Given the description of an element on the screen output the (x, y) to click on. 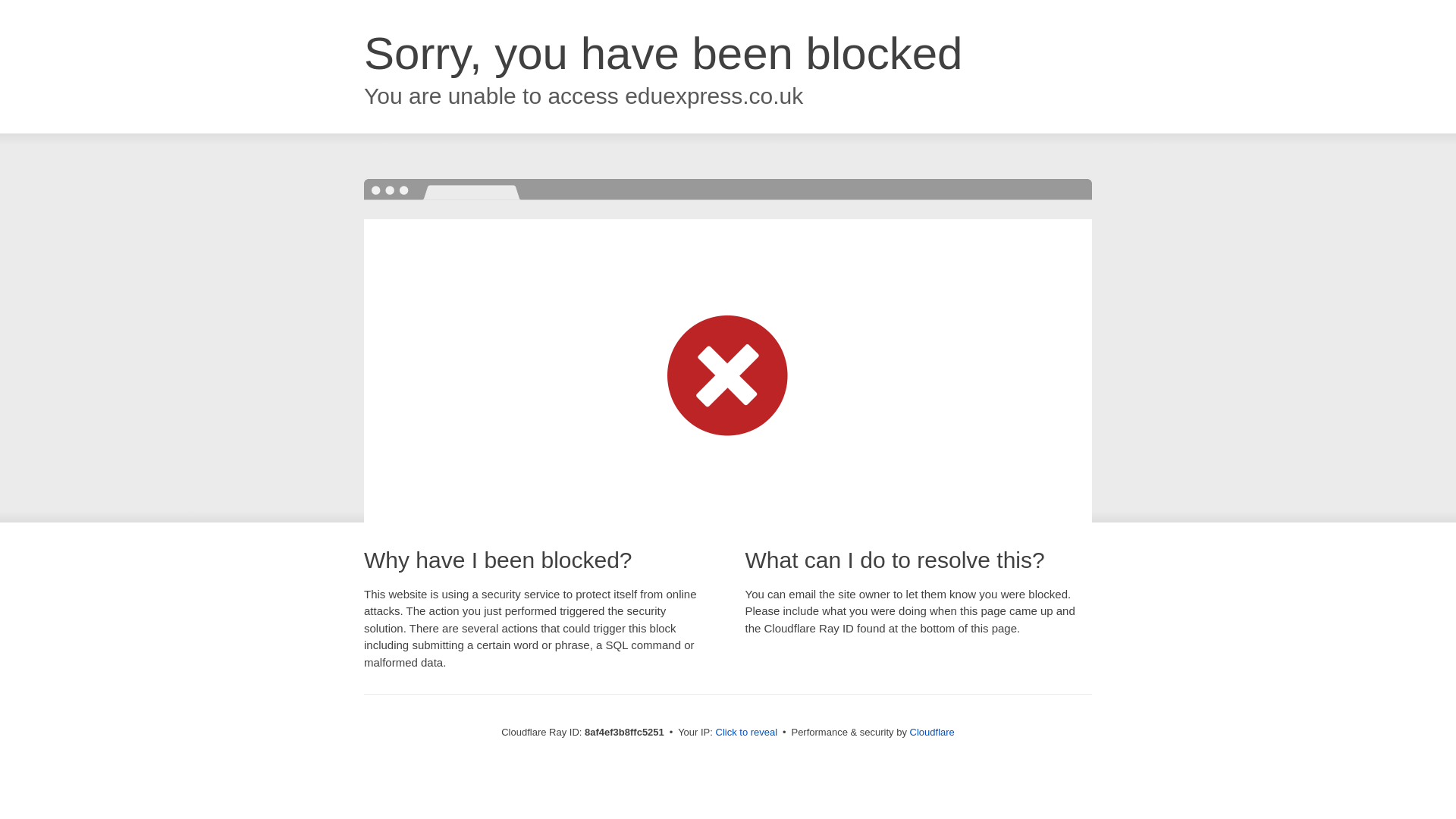
Click to reveal (746, 732)
Cloudflare (932, 731)
